Given the description of an element on the screen output the (x, y) to click on. 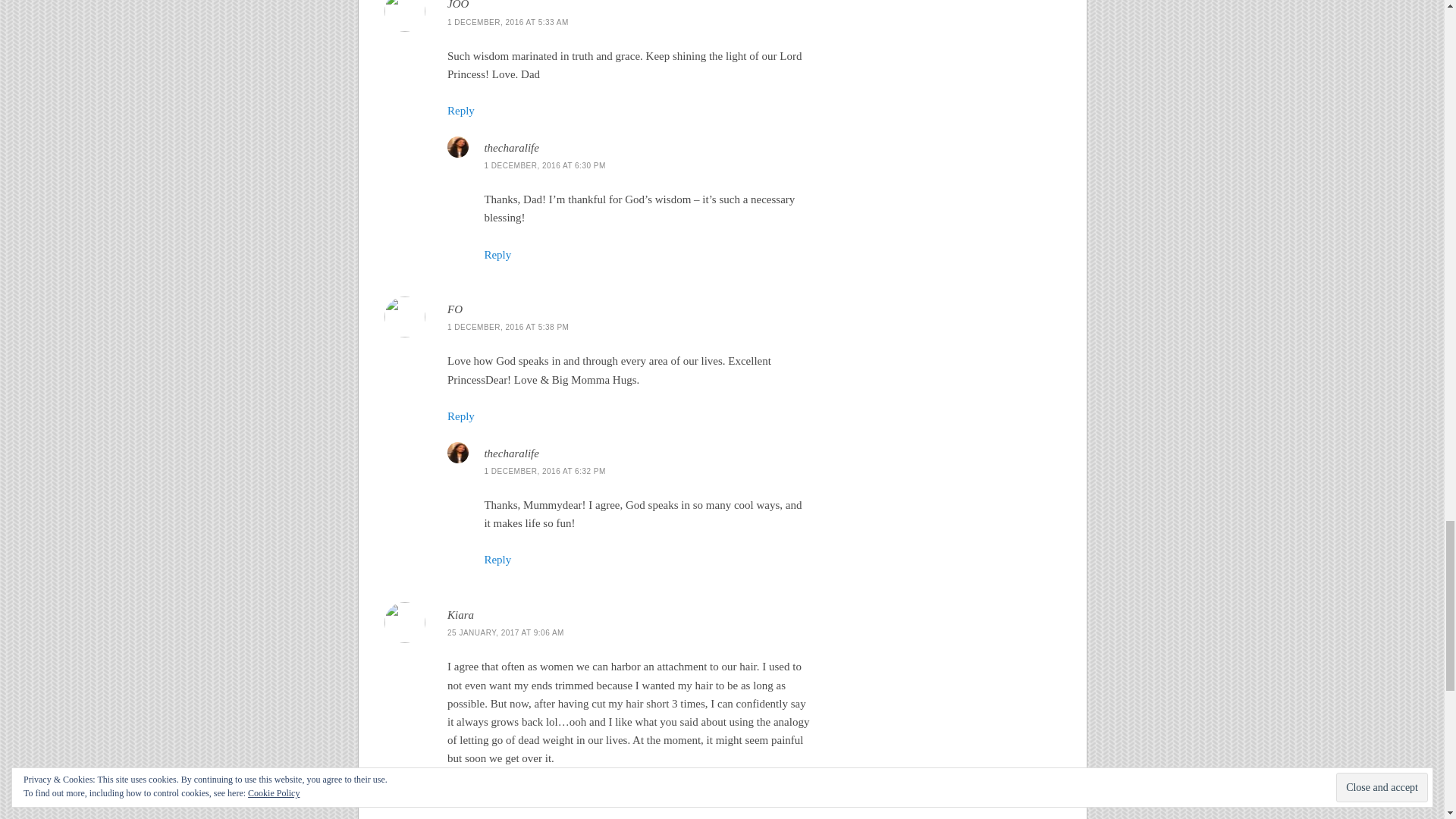
Reply (497, 254)
Reply (460, 795)
1 DECEMBER, 2016 AT 6:30 PM (544, 165)
Reply (460, 110)
Reply (460, 416)
Reply (497, 559)
1 DECEMBER, 2016 AT 6:32 PM (544, 470)
1 DECEMBER, 2016 AT 5:38 PM (507, 326)
1 DECEMBER, 2016 AT 5:33 AM (507, 22)
25 JANUARY, 2017 AT 9:06 AM (505, 632)
